Given the description of an element on the screen output the (x, y) to click on. 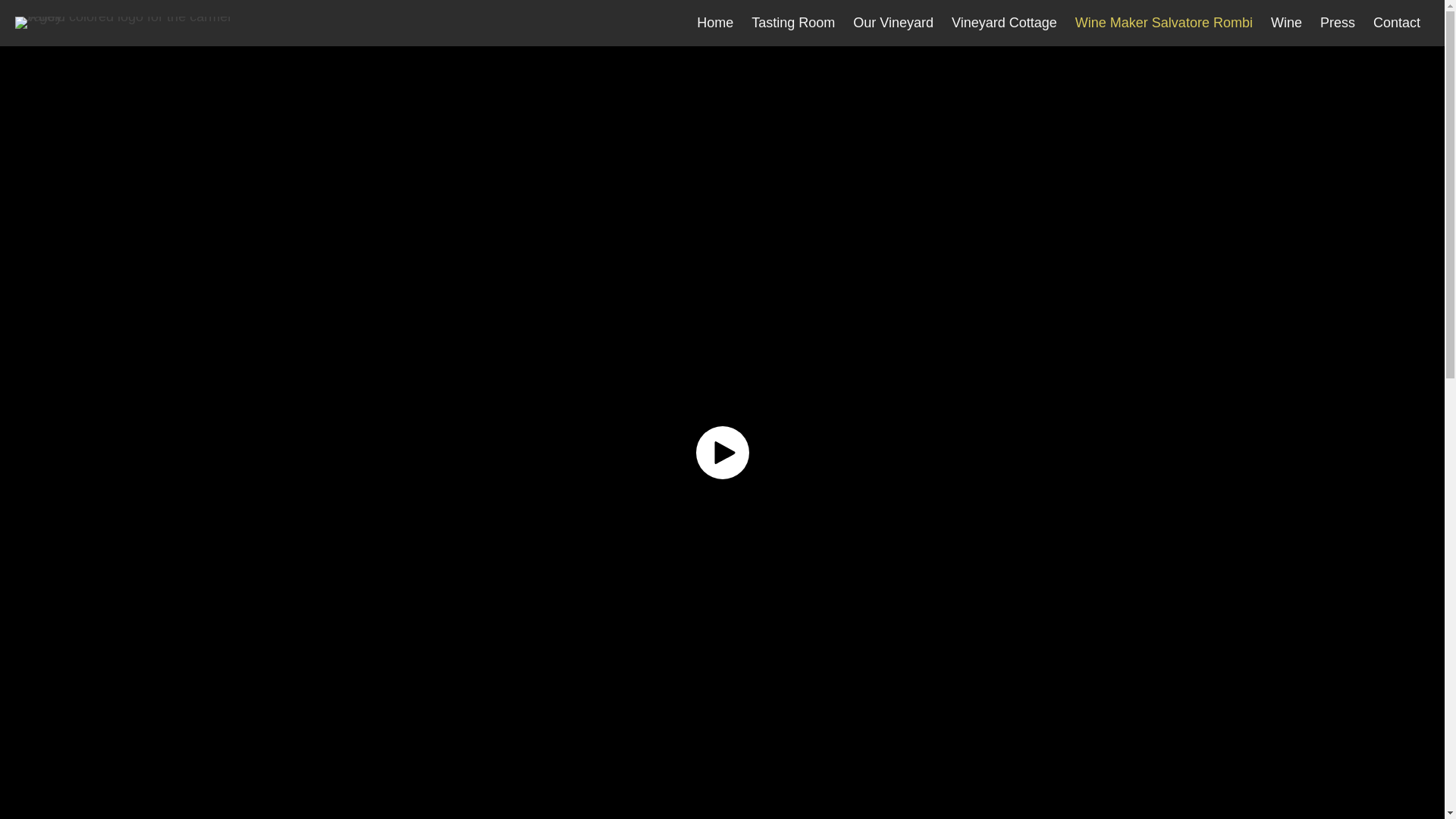
Wine (1286, 22)
Wine Maker Salvatore Rombi (1163, 22)
Contact (1396, 22)
Press (1337, 22)
Tasting Room (793, 22)
Our Vineyard (893, 22)
Home (714, 22)
Vineyard Cottage (1003, 22)
